Given the description of an element on the screen output the (x, y) to click on. 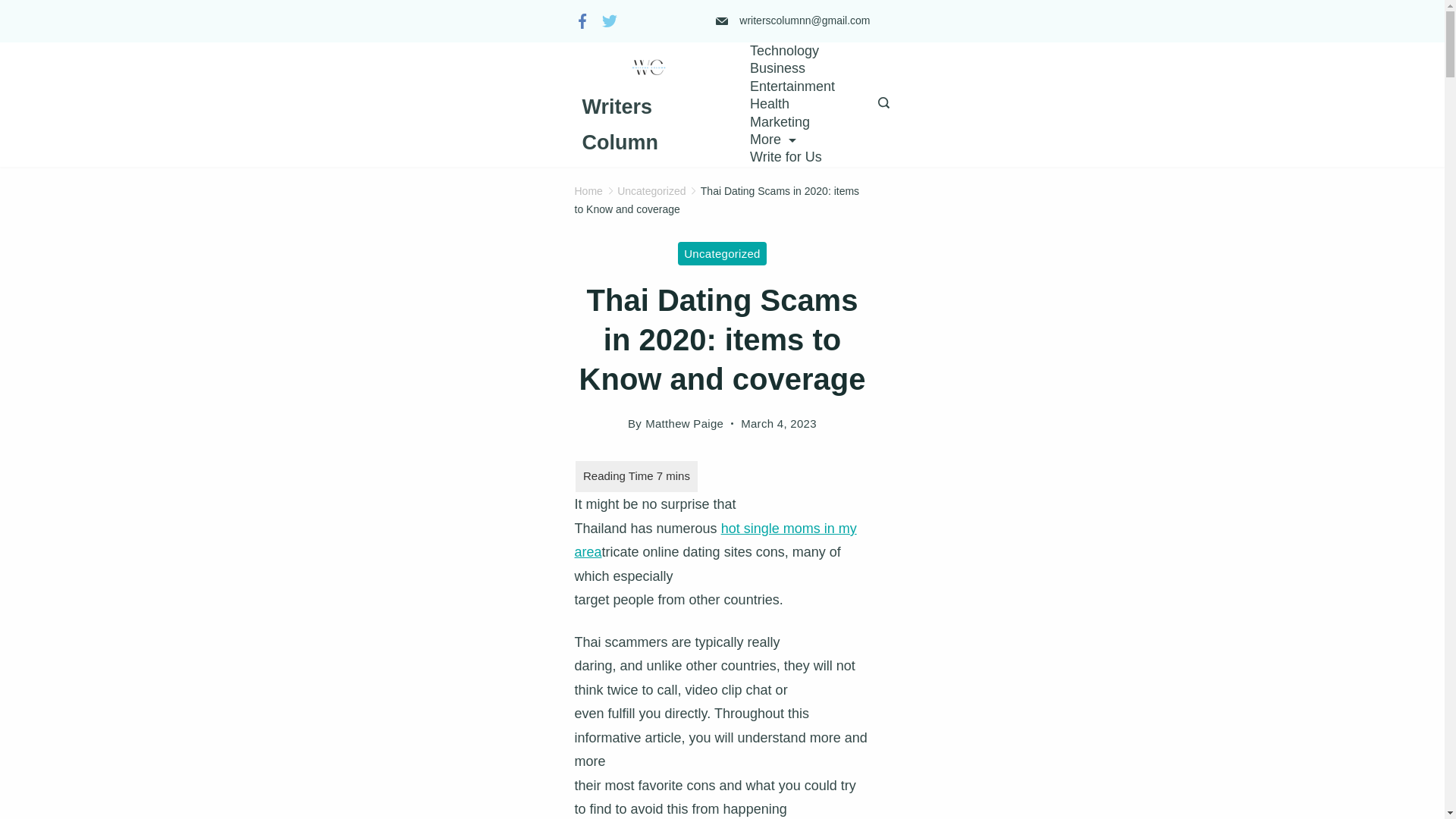
More (772, 139)
Write for Us (785, 157)
Thai Dating Scams in 2020: items to Know and coverage (717, 200)
Technology (783, 50)
Business (776, 67)
Entertainment (791, 86)
Writers Column (620, 124)
Uncategorized (651, 191)
Home (588, 191)
Health (768, 104)
